Given the description of an element on the screen output the (x, y) to click on. 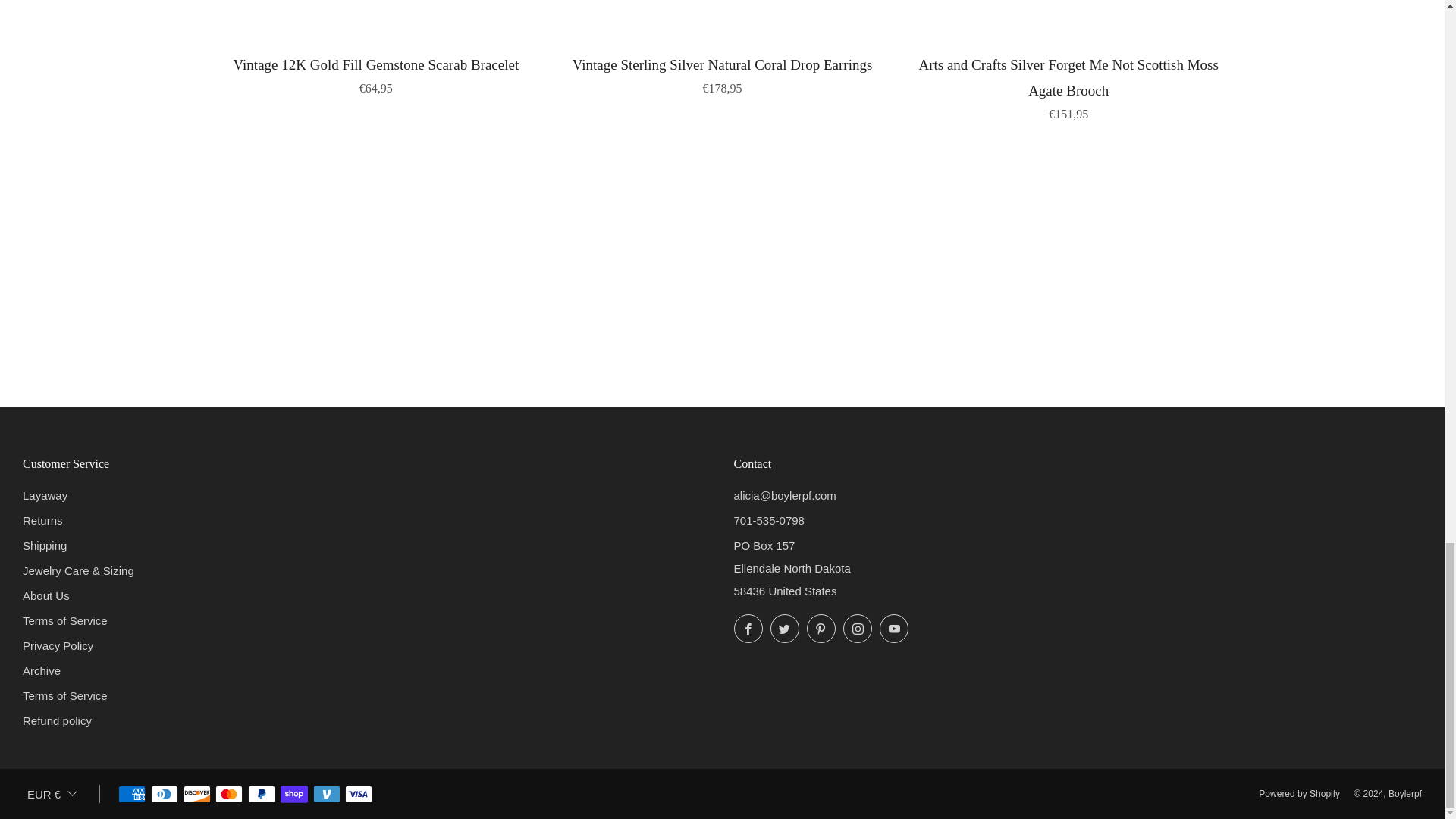
Vintage 12K Gold Fill Gemstone Scarab Bracelet (376, 73)
Vintage Sterling Silver Natural Coral Drop Earrings (721, 73)
